Given the description of an element on the screen output the (x, y) to click on. 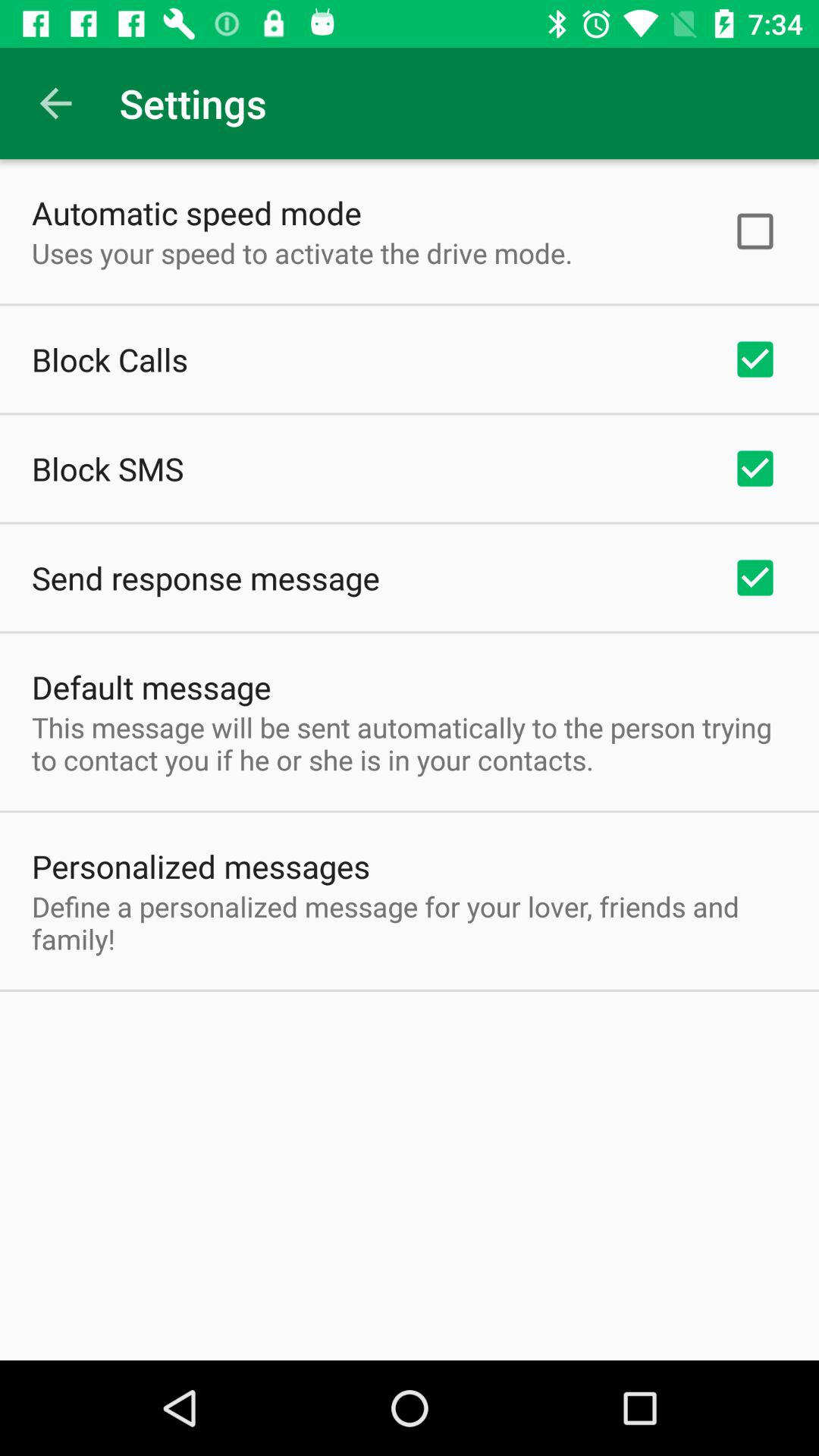
swipe to the define a personalized item (409, 922)
